Given the description of an element on the screen output the (x, y) to click on. 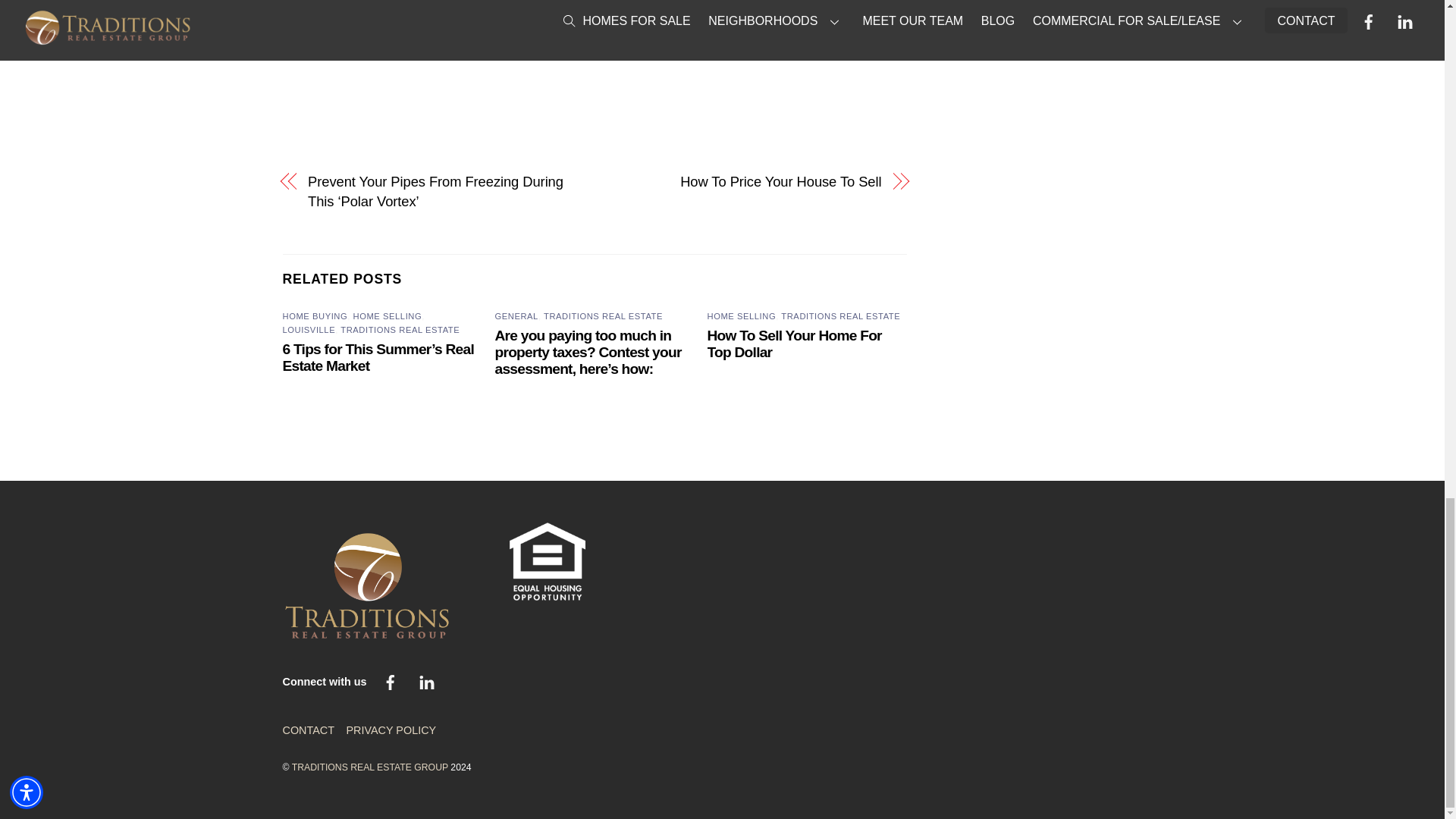
GENERAL (516, 316)
TRADITIONS REAL ESTATE (400, 329)
HOME SELLING (741, 316)
LOUISVILLE (308, 329)
TRADITIONS REAL ESTATE (602, 316)
HOME SELLING (387, 316)
rental forms (495, 0)
How To Price Your House To Sell (746, 181)
HOME BUYING (314, 316)
TRADITIONS REAL ESTATE (839, 316)
